Given the description of an element on the screen output the (x, y) to click on. 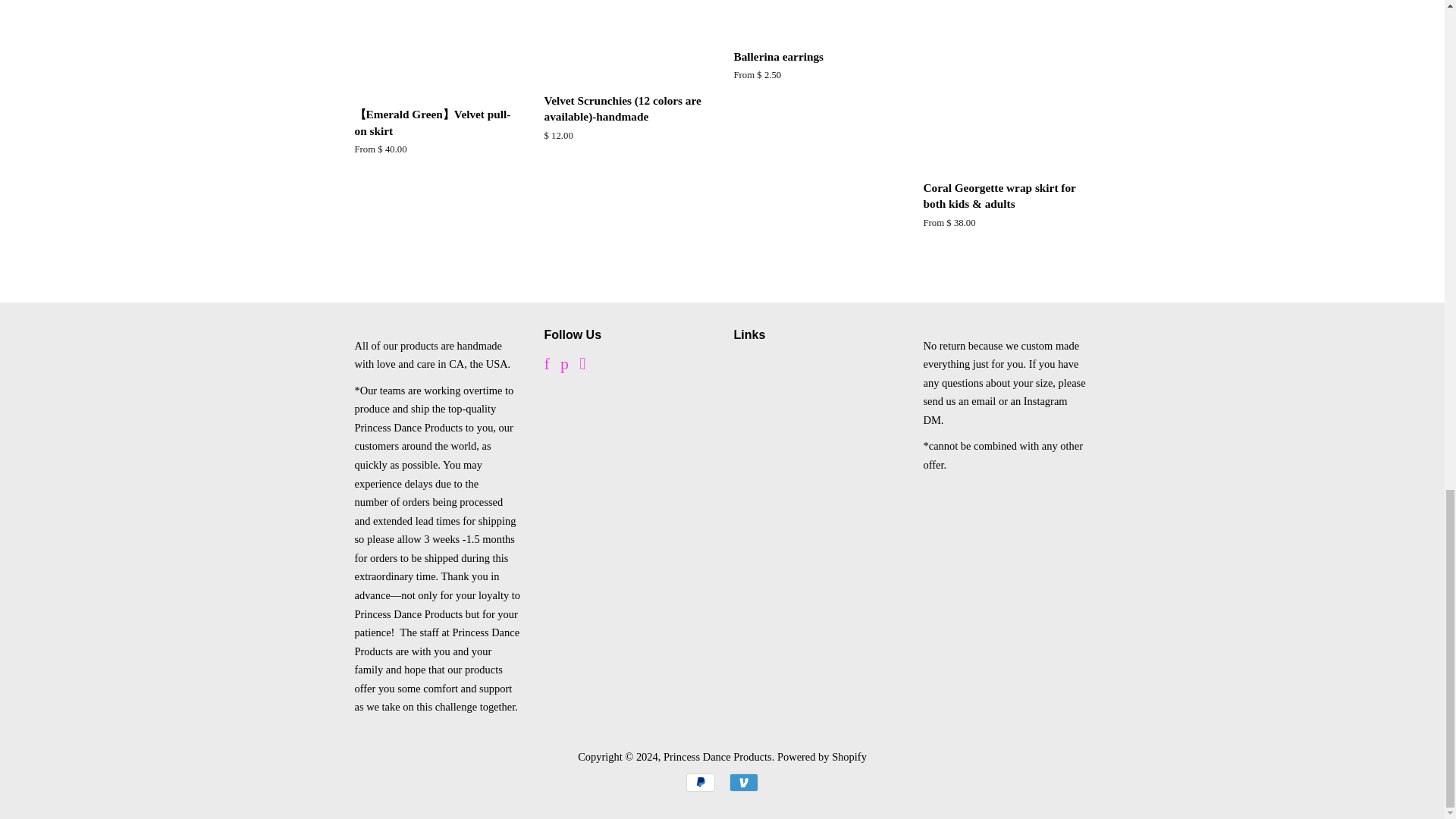
PayPal (699, 782)
Venmo (743, 782)
